Given the description of an element on the screen output the (x, y) to click on. 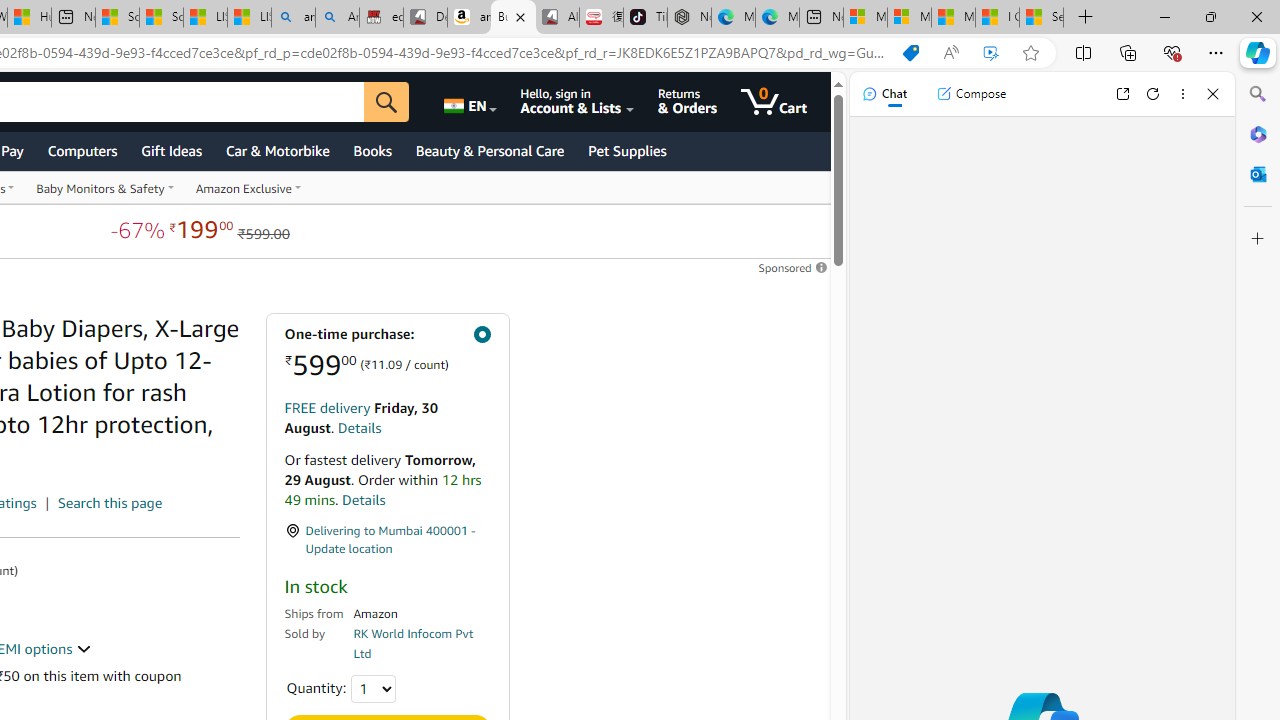
Compose (971, 93)
Microsoft account | Privacy (909, 17)
I Gained 20 Pounds of Muscle in 30 Days! | Watch (996, 17)
Search (1258, 94)
Open link in new tab (1122, 93)
TikTok (644, 17)
All Cubot phones (557, 17)
